Given the description of an element on the screen output the (x, y) to click on. 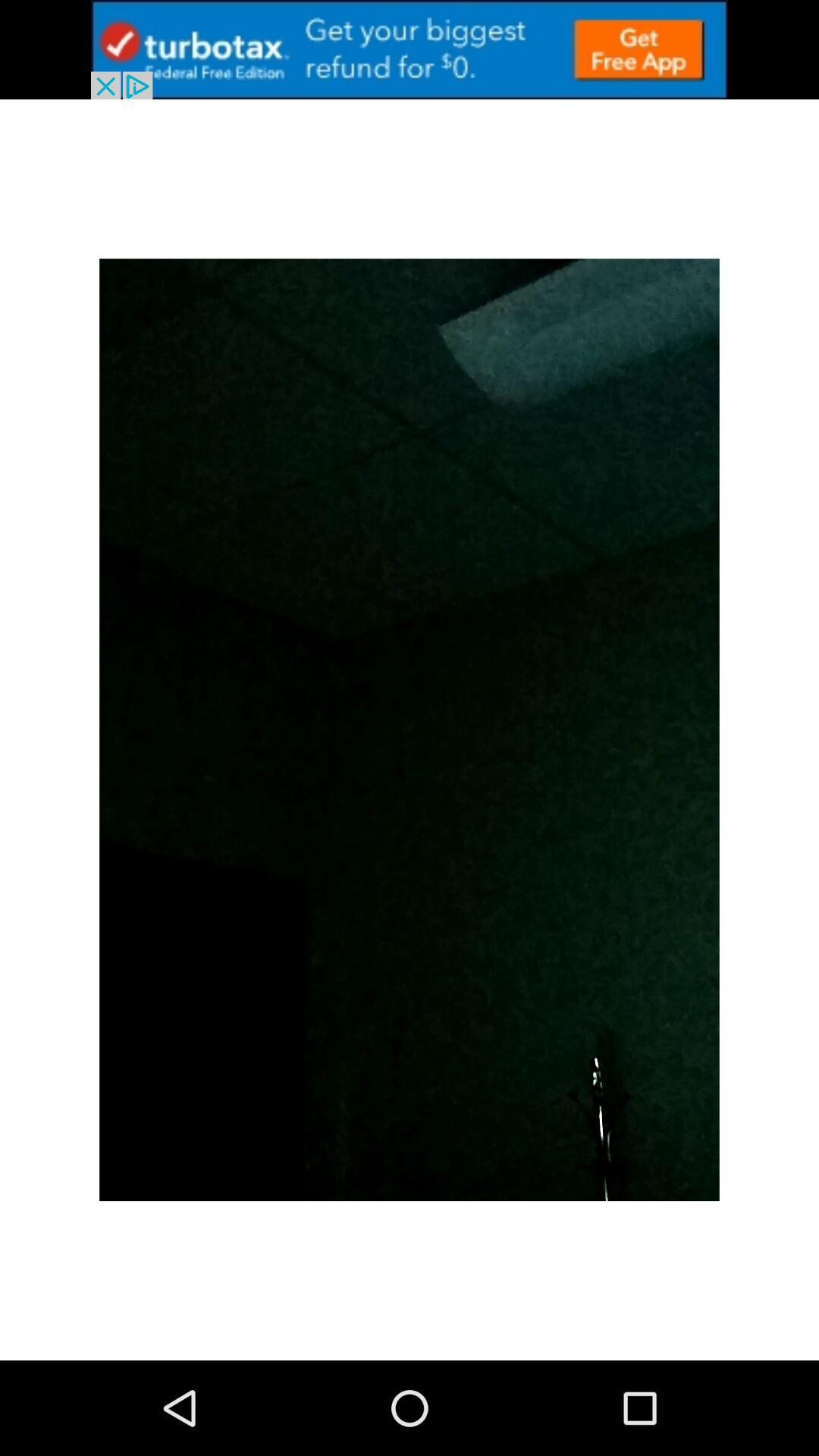
advertisement link (409, 49)
